Given the description of an element on the screen output the (x, y) to click on. 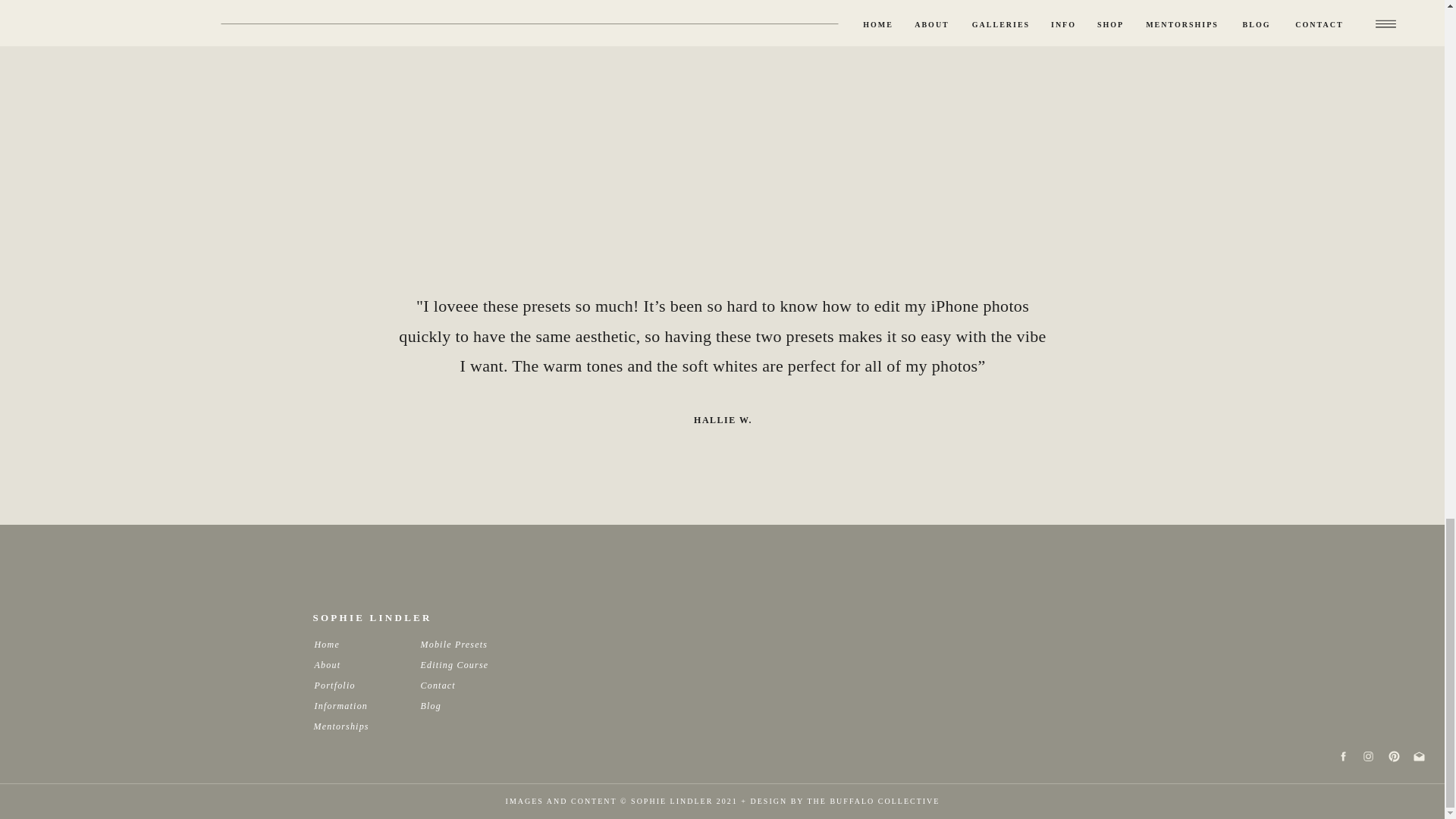
Portfolio (349, 684)
Information (349, 705)
Mentorships (349, 725)
Mobile Presets (456, 643)
Editing Course (456, 664)
Home (349, 643)
About (349, 664)
Contact (456, 684)
Blog (456, 705)
